Given the description of an element on the screen output the (x, y) to click on. 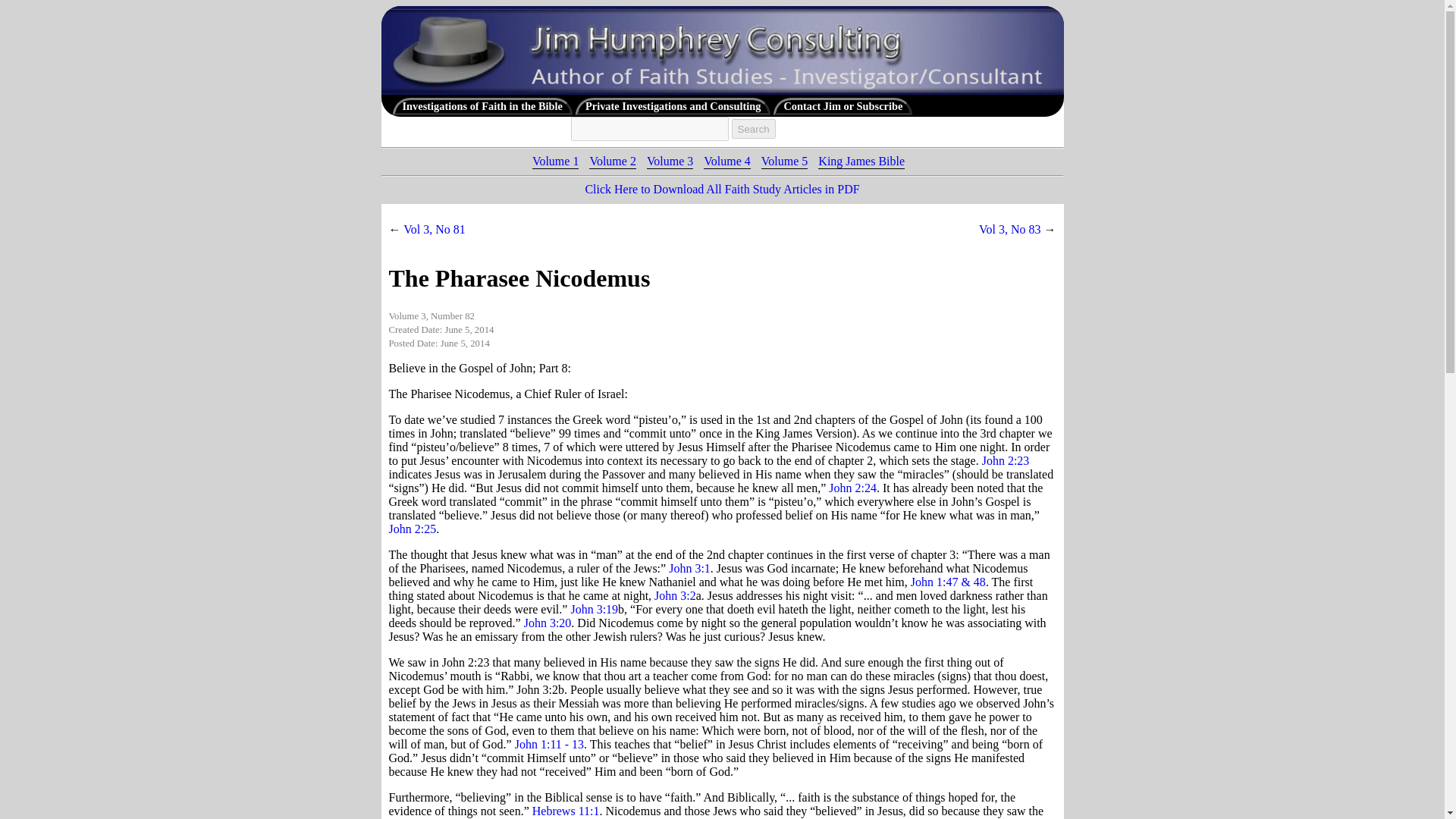
Private Investigations and Consulting (672, 106)
Investigations of Faith in the Bible (481, 106)
Volume 1 (555, 160)
Search (752, 128)
Volume 2 (611, 160)
Search (752, 128)
Contact Jim or Subscribe (842, 106)
